Given the description of an element on the screen output the (x, y) to click on. 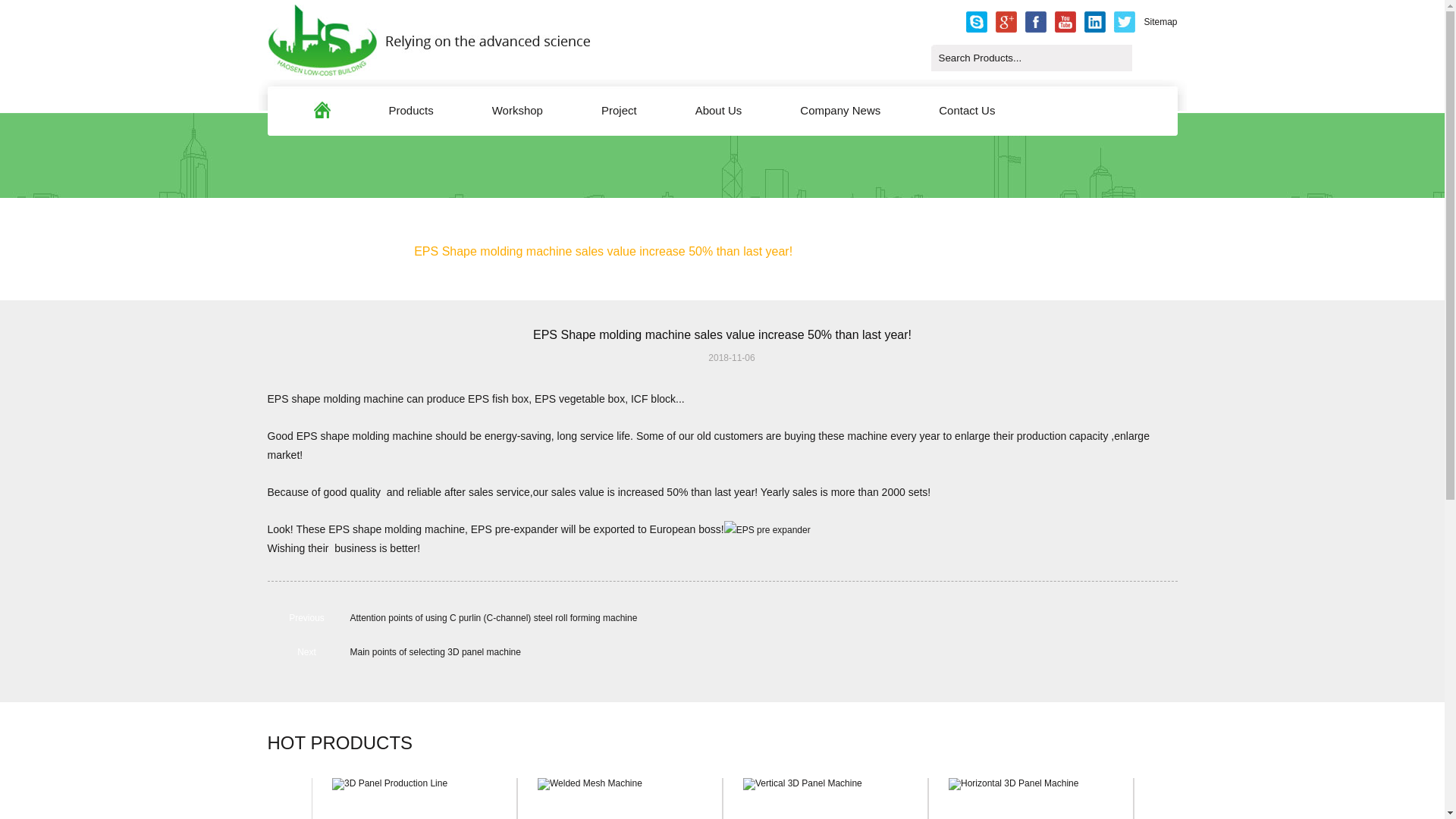
3D Panel Production Line (414, 798)
Welded Mesh Machine (618, 798)
Main points of selecting 3D panel machine (435, 652)
Company News (839, 108)
Hebei Haosen Leituo Machinery Technology Co.,Ltd (427, 72)
Sitemap (1159, 21)
EPS pre expander  (766, 529)
